Given the description of an element on the screen output the (x, y) to click on. 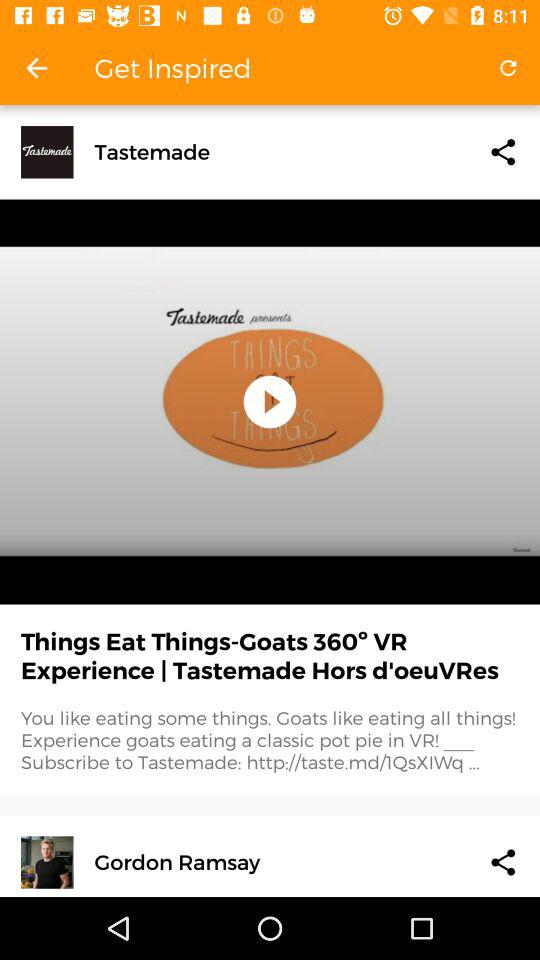
share video (503, 862)
